Given the description of an element on the screen output the (x, y) to click on. 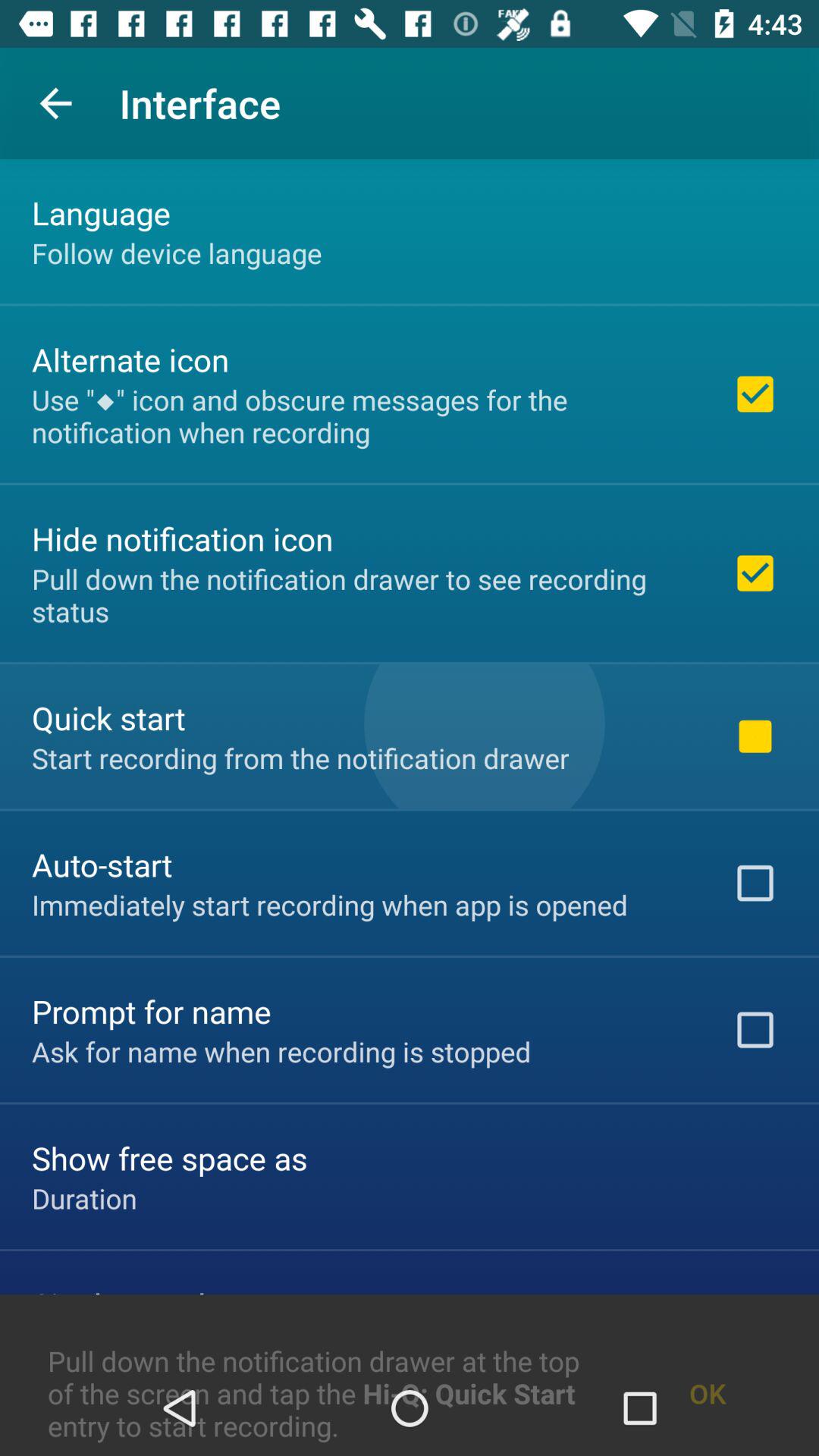
turn off duration (84, 1198)
